Given the description of an element on the screen output the (x, y) to click on. 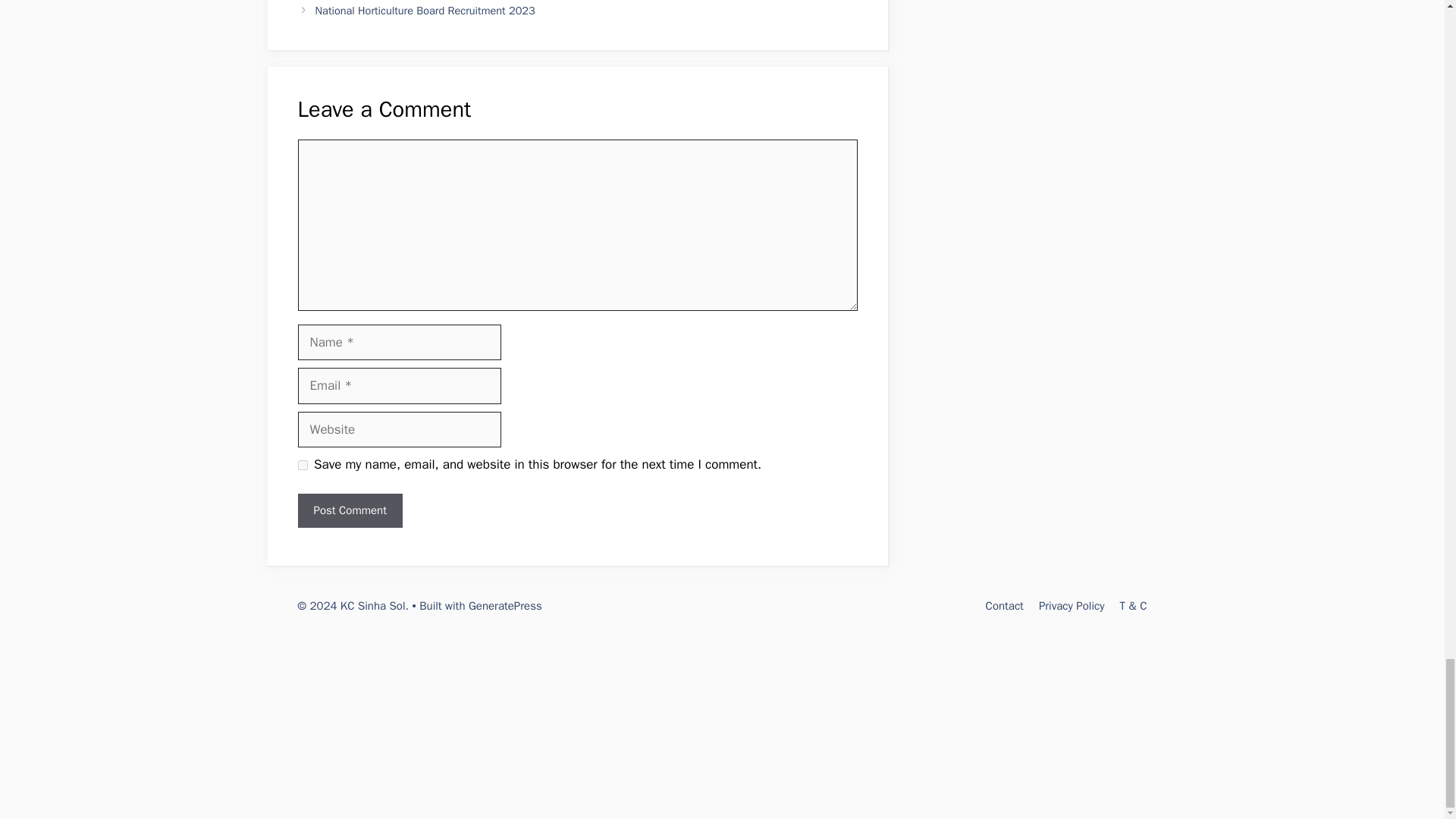
National Horticulture Board Recruitment 2023 (425, 10)
yes (302, 465)
Post Comment (349, 510)
Post Comment (349, 510)
